Given the description of an element on the screen output the (x, y) to click on. 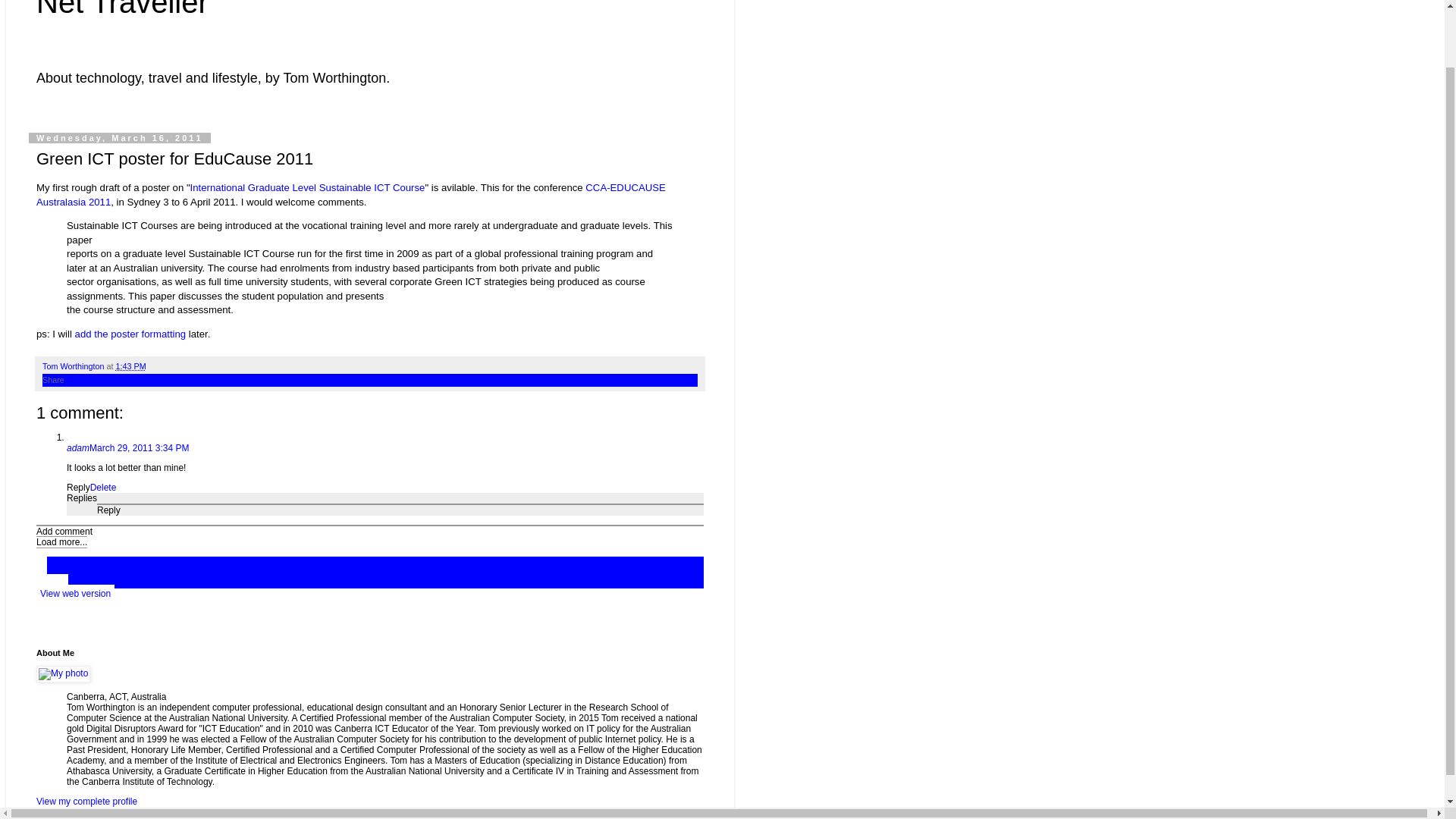
Add comment (64, 531)
Older Post (41, 572)
Delete (103, 487)
Load more... (61, 541)
Blogger (393, 811)
Tom Worthington (74, 366)
Home (52, 583)
View my complete profile (86, 801)
Net Traveller (122, 9)
Share (53, 379)
Reply (78, 487)
adam (77, 448)
Newer Post (41, 561)
March 29, 2011 3:34 PM (138, 448)
View web version (75, 593)
